Given the description of an element on the screen output the (x, y) to click on. 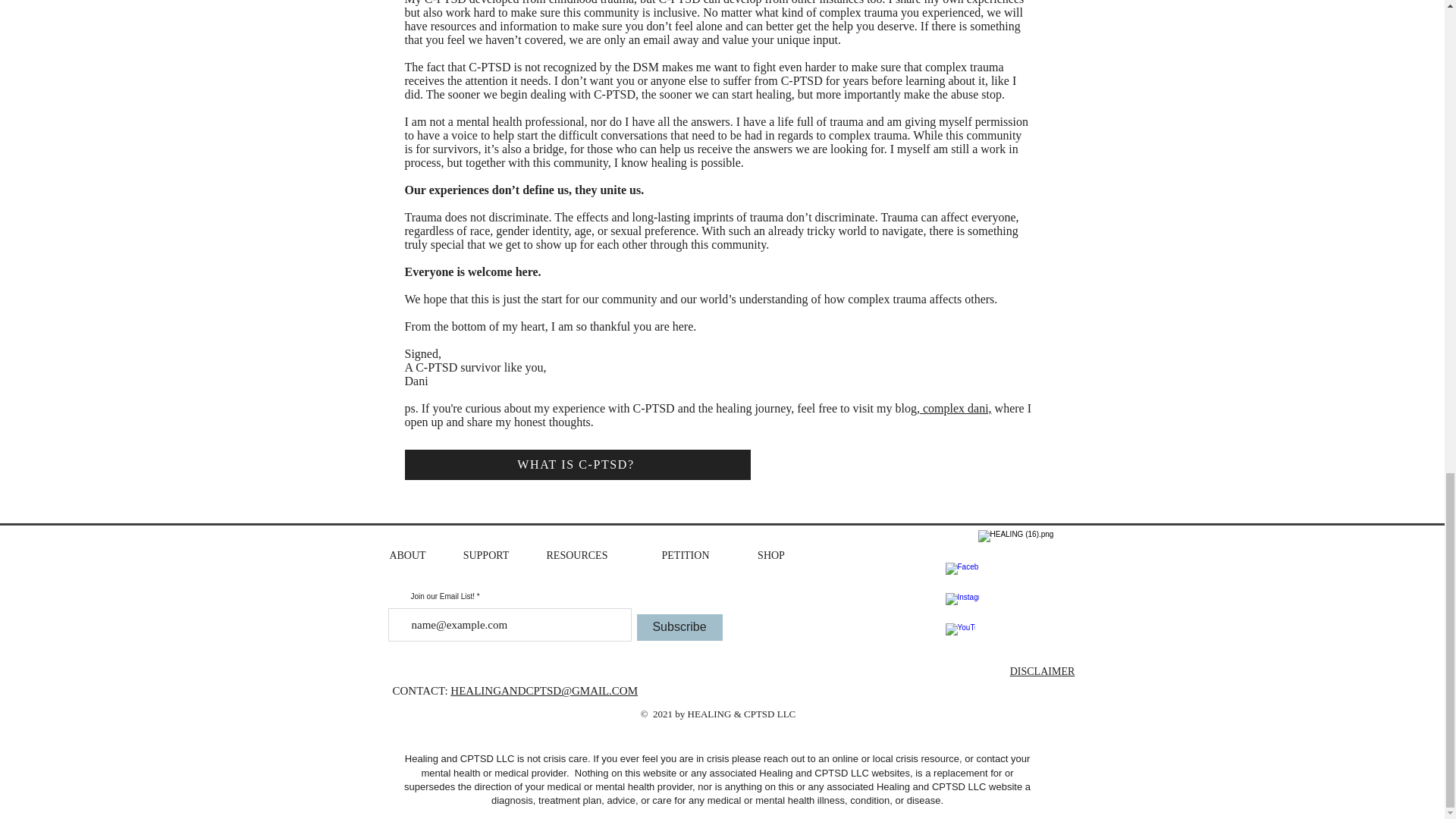
complex dani, (955, 408)
PETITION (685, 555)
Subscribe (679, 627)
RESOURCES (577, 555)
SHOP (770, 555)
SUPPORT (486, 555)
ABOUT (406, 555)
WHAT IS C-PTSD? (577, 464)
